Given the description of an element on the screen output the (x, y) to click on. 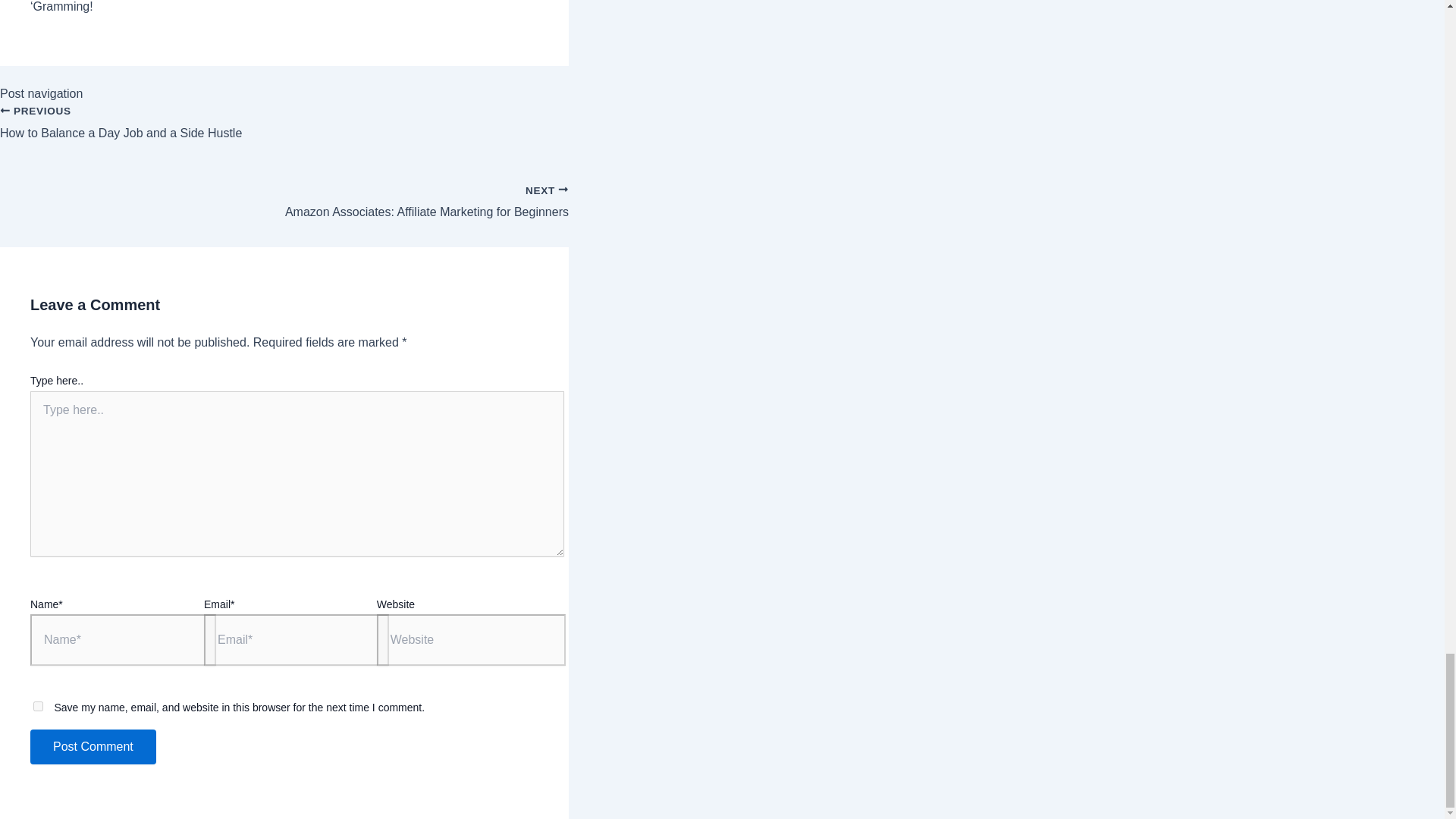
yes (284, 131)
How to Balance a Day Job and a Side Hustle (38, 706)
Post Comment (284, 131)
Post Comment (92, 746)
Amazon Associates: Affiliate Marketing for Beginners (92, 746)
